Given the description of an element on the screen output the (x, y) to click on. 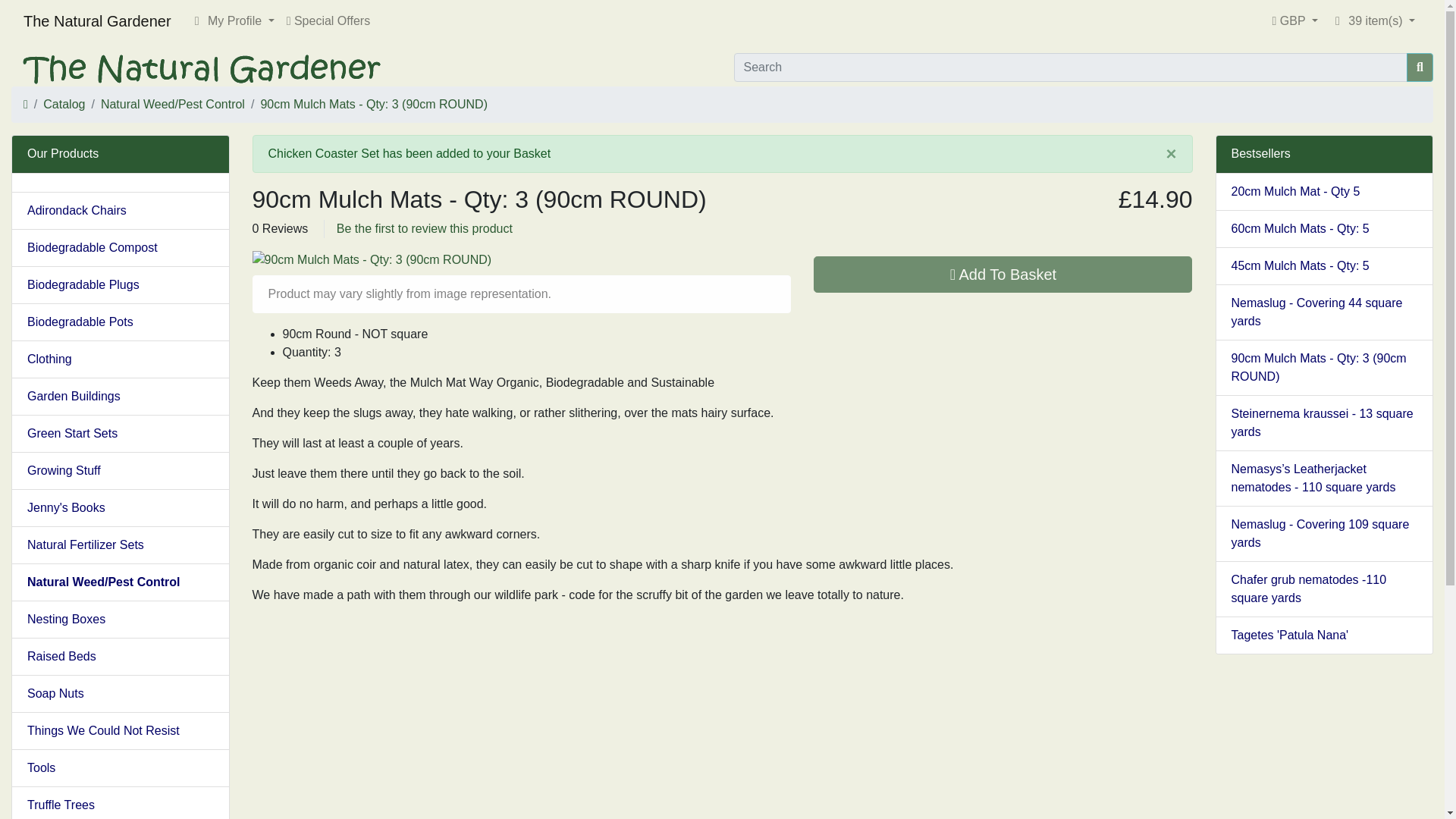
Shopping Cart (1337, 21)
Special Offers (328, 20)
The Natural Gardener (228, 67)
My Profile (197, 21)
GBP (1294, 20)
The Natural Gardener (97, 20)
My Profile (232, 20)
